Given the description of an element on the screen output the (x, y) to click on. 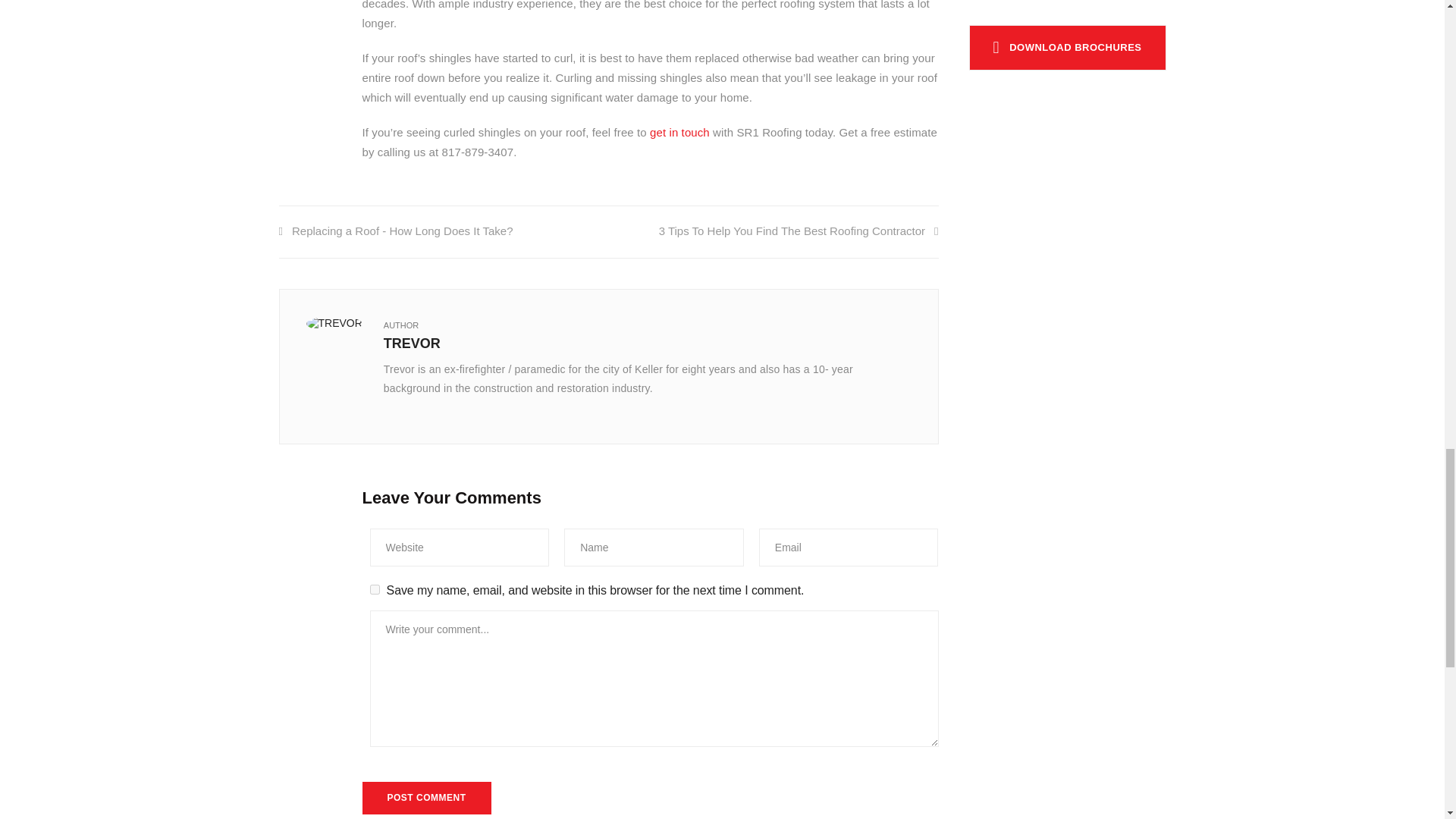
Replacing a Roof - How Long Does It Take? (396, 230)
yes (374, 589)
Replacing a Roof - How Long Does It Take? (396, 230)
3 Tips To Help You Find The Best Roofing Contractor (799, 230)
Post Comment (427, 798)
get in touch (679, 132)
3 Tips To Help You Find The Best Roofing Contractor (799, 230)
TREVOR (412, 343)
Post Comment (427, 798)
